Given the description of an element on the screen output the (x, y) to click on. 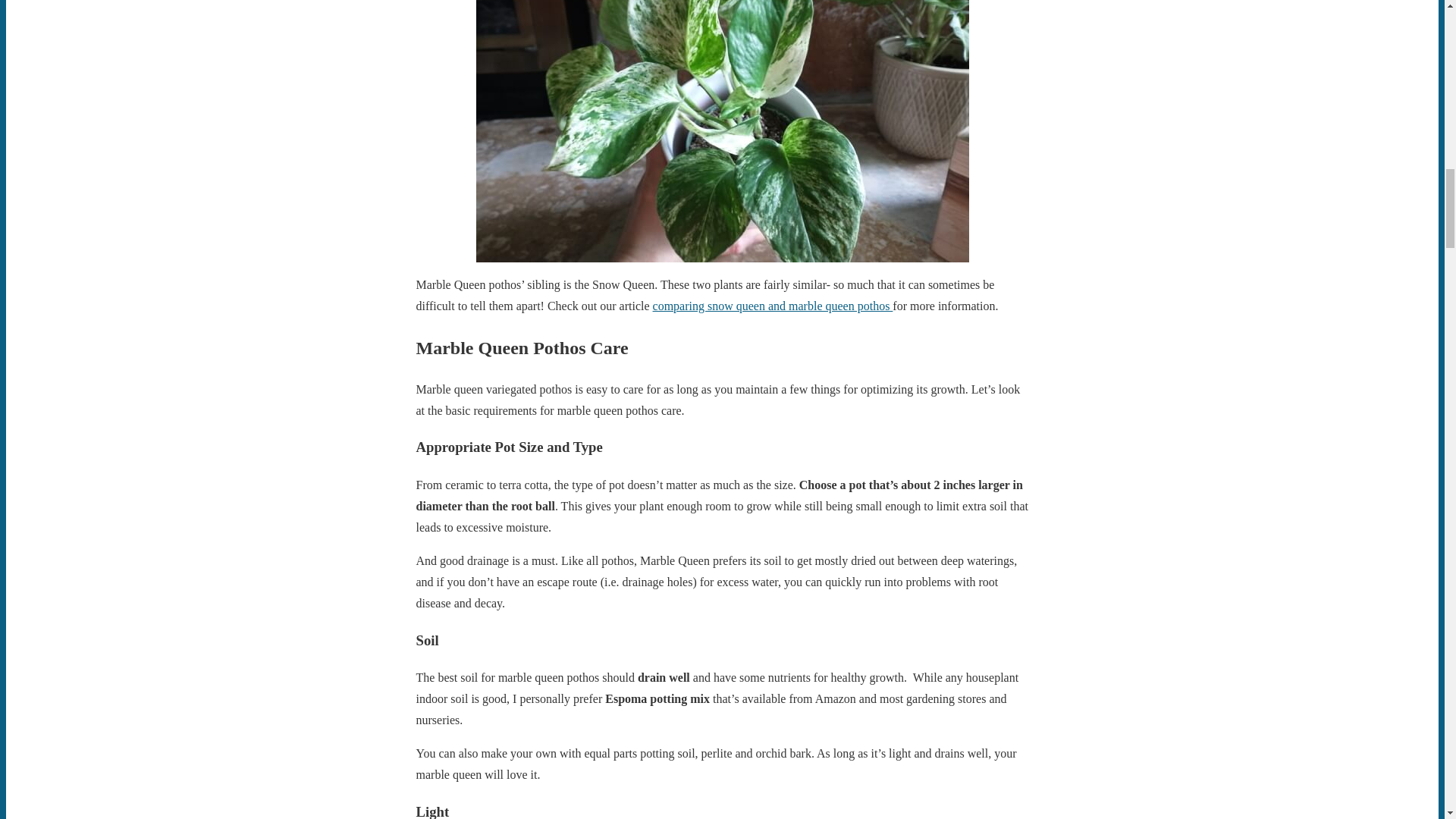
Mable Queen plant (722, 131)
comparing snow queen and marble queen pothos (772, 305)
